Given the description of an element on the screen output the (x, y) to click on. 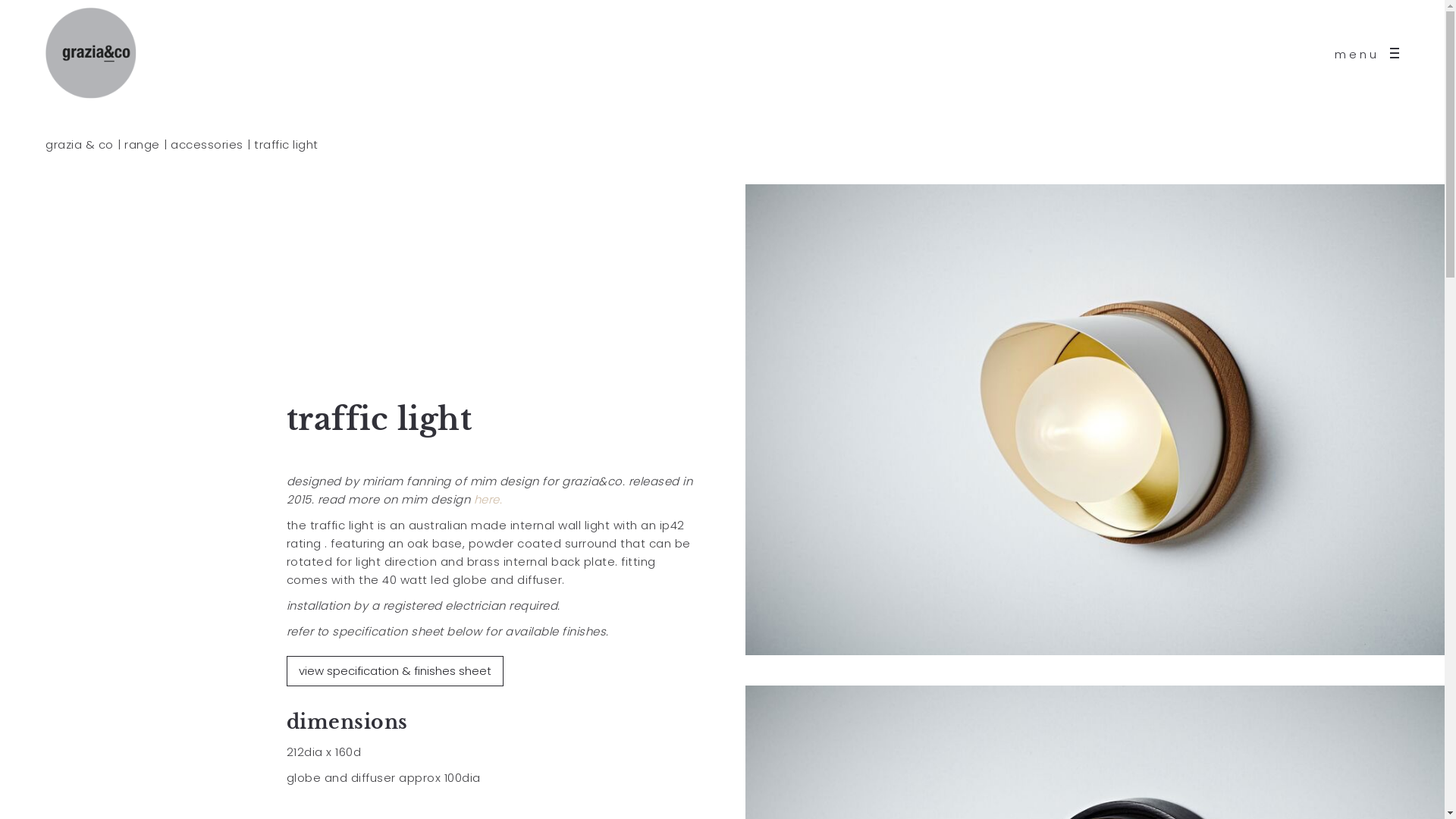
grazia & co Element type: text (79, 144)
here. Element type: text (487, 499)
accessories Element type: text (206, 144)
traffic light Element type: hover (1098, 419)
view specification & finishes sheet Element type: text (394, 670)
range Element type: text (142, 144)
traffic light Element type: text (286, 144)
Grazia & Co Element type: hover (90, 53)
